Given the description of an element on the screen output the (x, y) to click on. 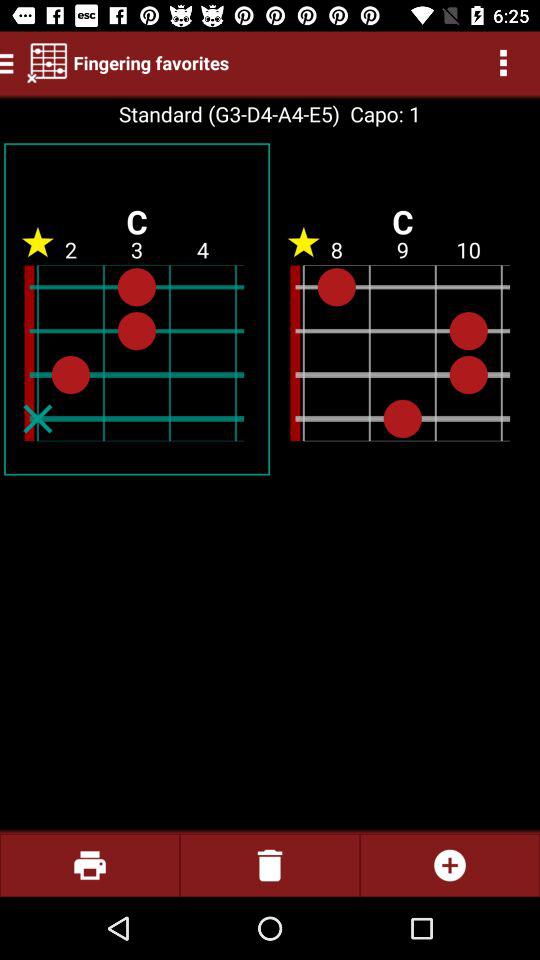
press the   capo: 1 icon (379, 113)
